Given the description of an element on the screen output the (x, y) to click on. 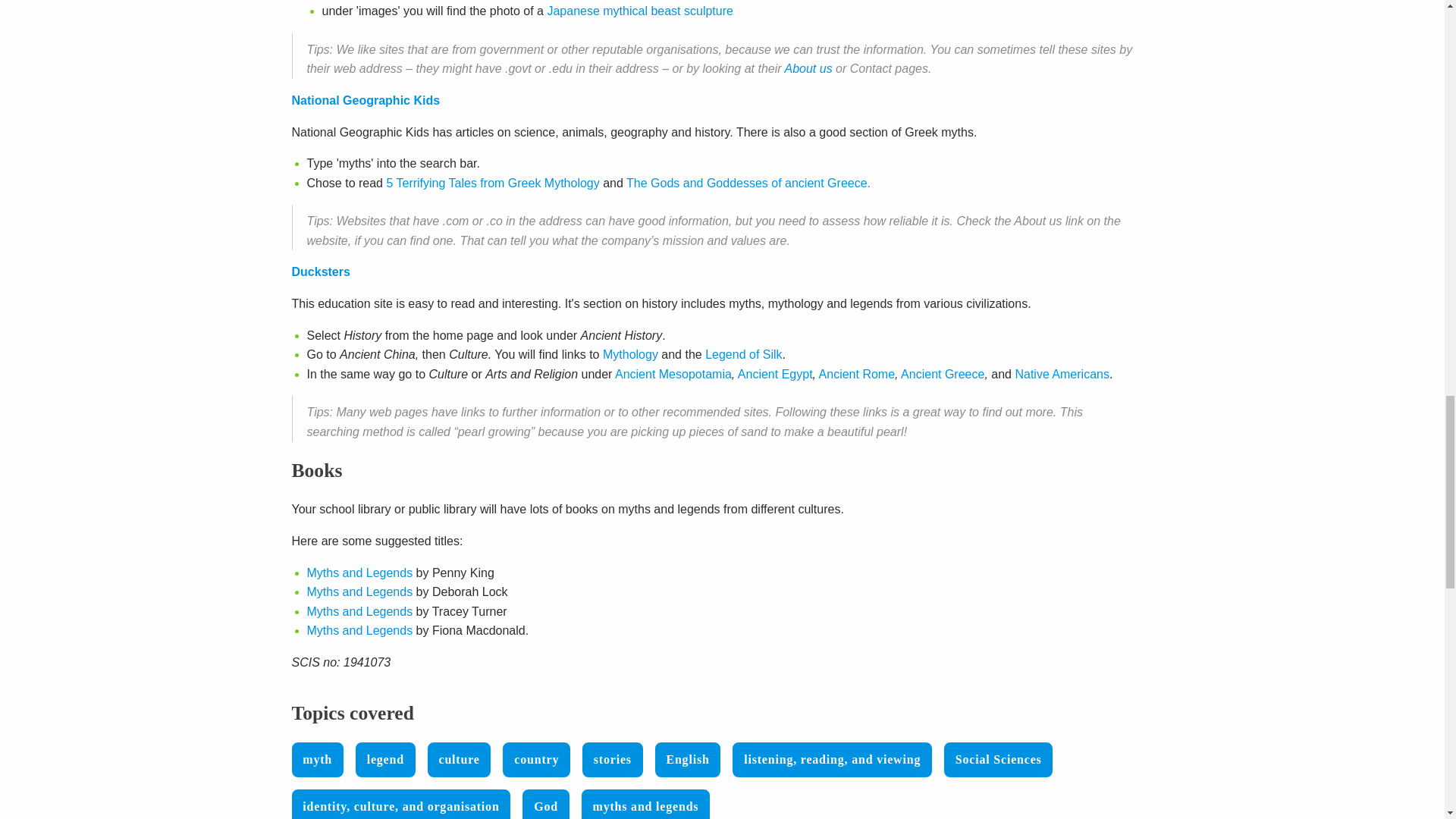
The Gods and Goddesses of ancient Greece. (748, 182)
Ancient Greece (942, 373)
Ancient Mesopotamia (673, 373)
Ducksters (320, 271)
Mythology (630, 354)
National Geographic Kids (365, 100)
Myths and Legends (358, 572)
Native Americans (1061, 373)
About us (807, 68)
Legend of Silk (742, 354)
Japanese mythical beast sculpture (639, 10)
5 Terrifying Tales from Greek Mythology (491, 182)
Ancient Egypt (775, 373)
Ancient Rome (856, 373)
